Given the description of an element on the screen output the (x, y) to click on. 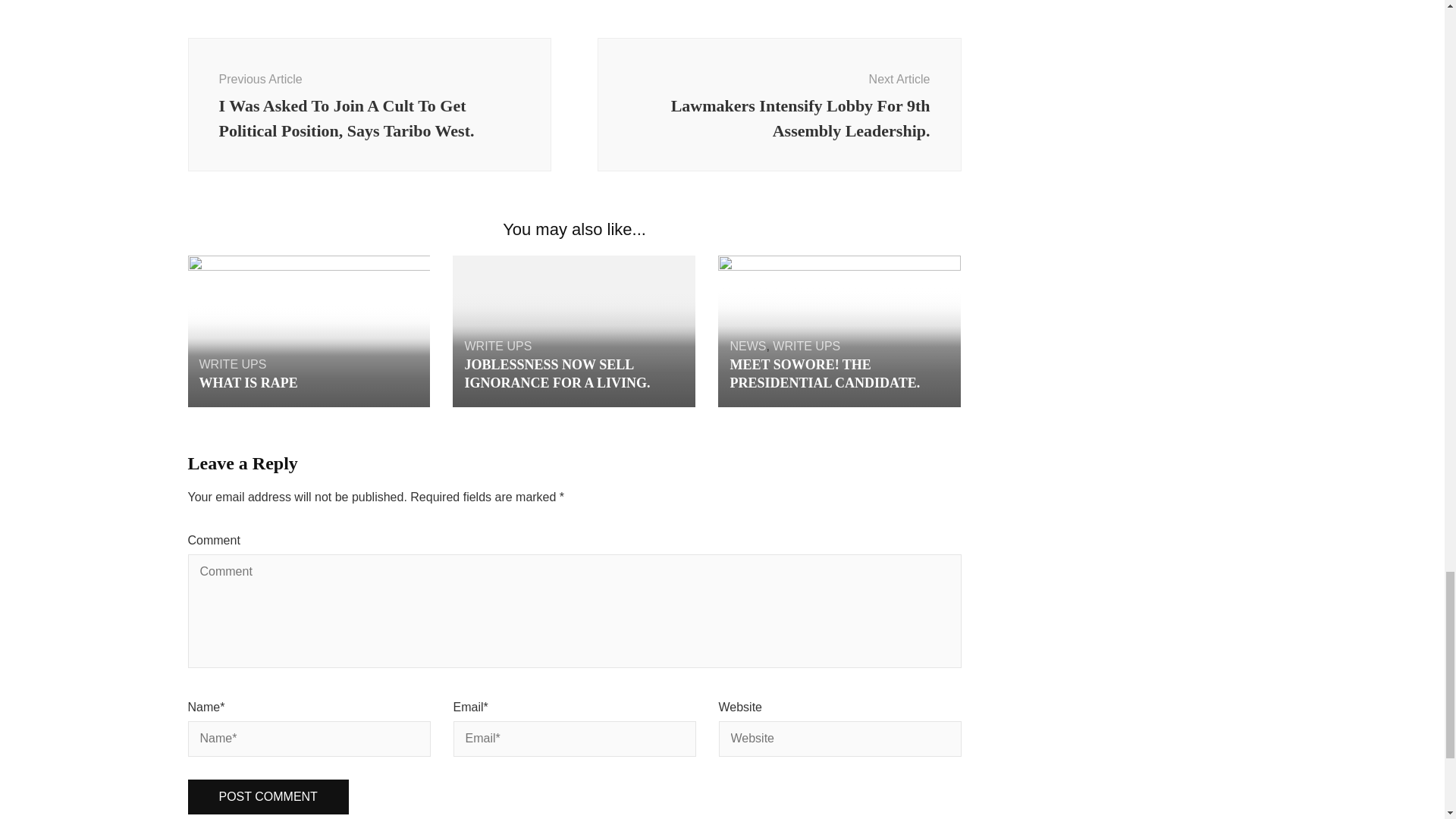
Post Comment (268, 796)
